Given the description of an element on the screen output the (x, y) to click on. 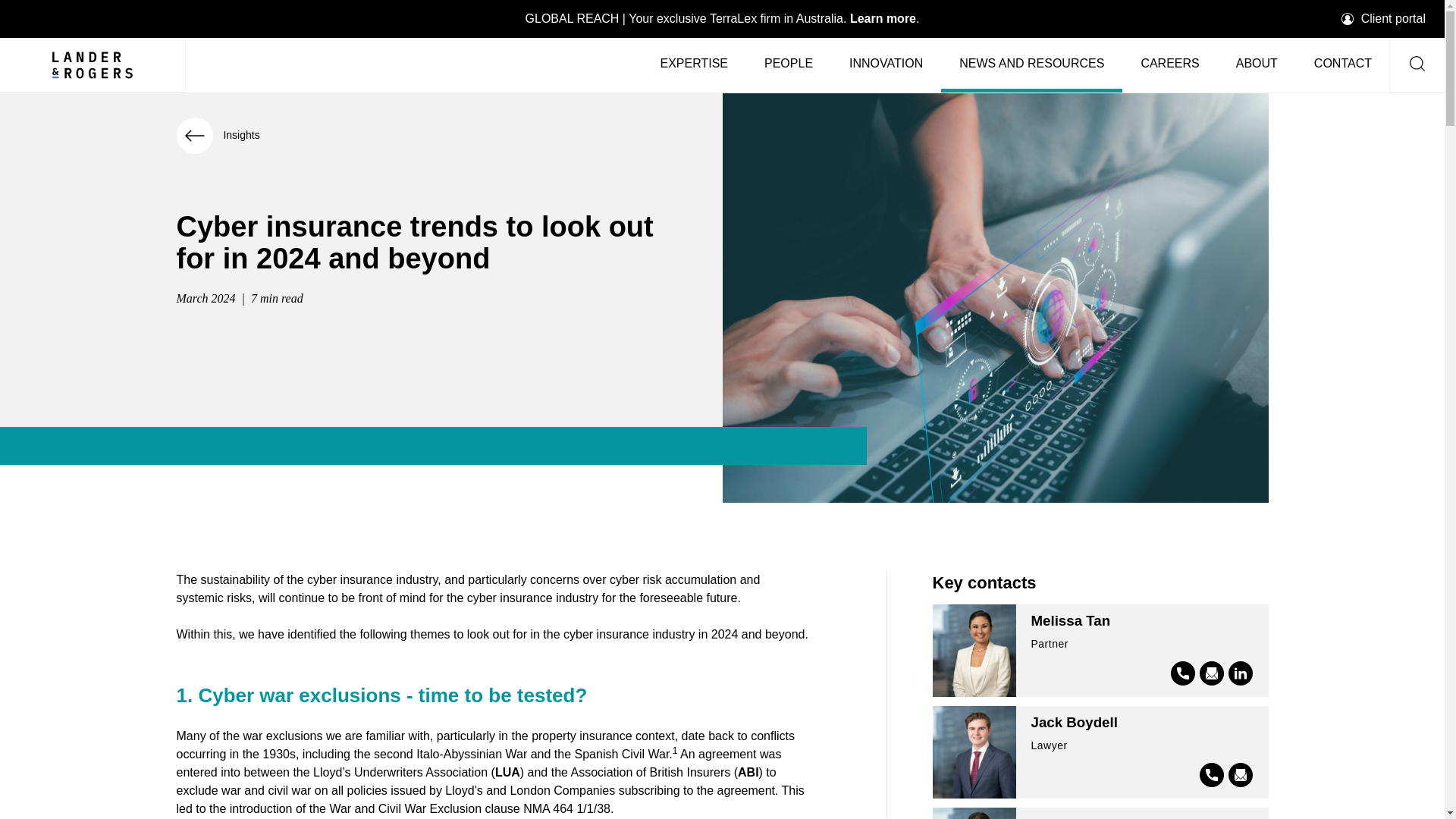
TerraLex global network (722, 18)
NEWS AND RESOURCES (1031, 63)
INNOVATION (885, 63)
EXPERTISE (693, 63)
PEOPLE (788, 63)
